Given the description of an element on the screen output the (x, y) to click on. 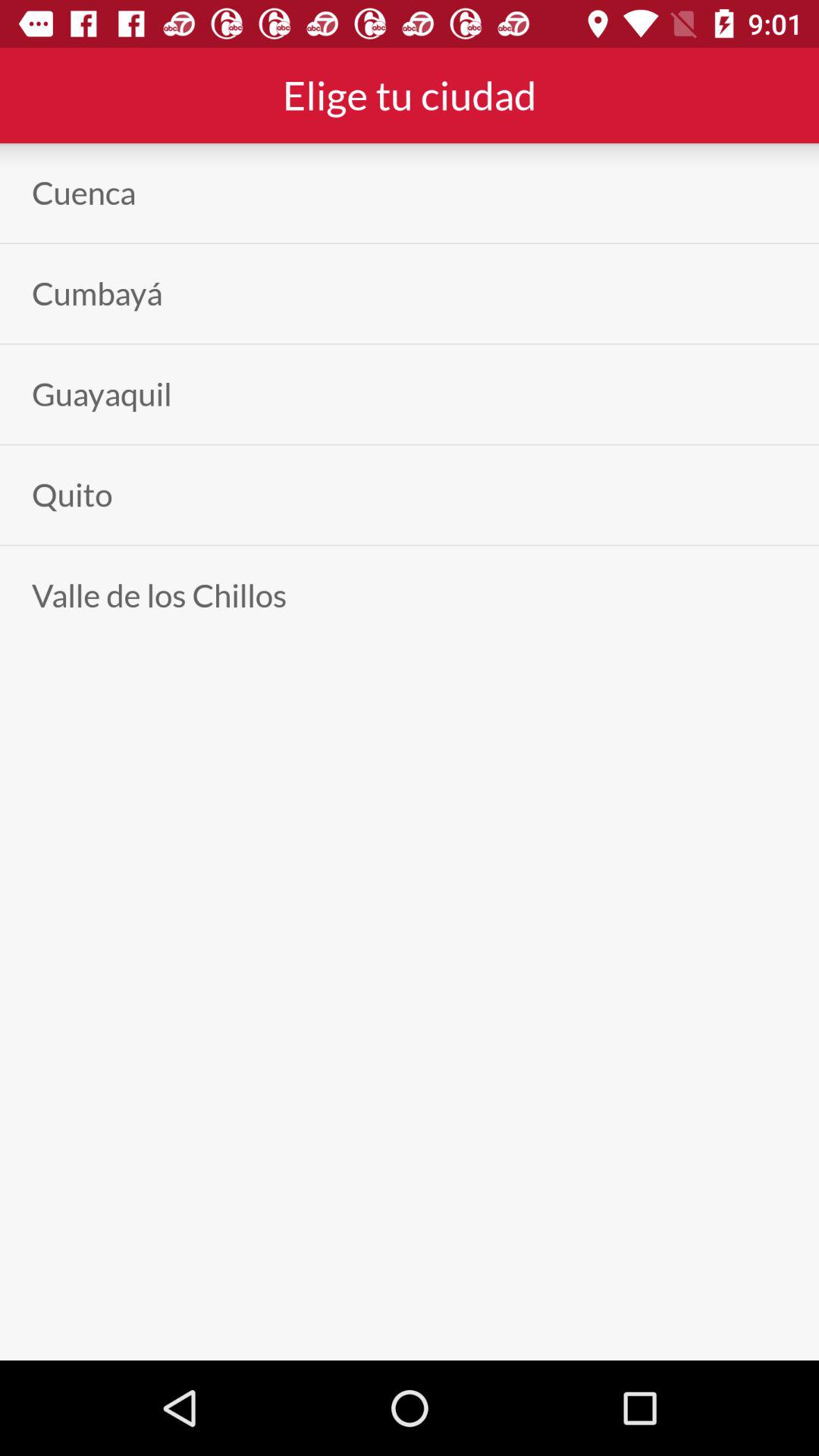
swipe until the valle de los (158, 595)
